Given the description of an element on the screen output the (x, y) to click on. 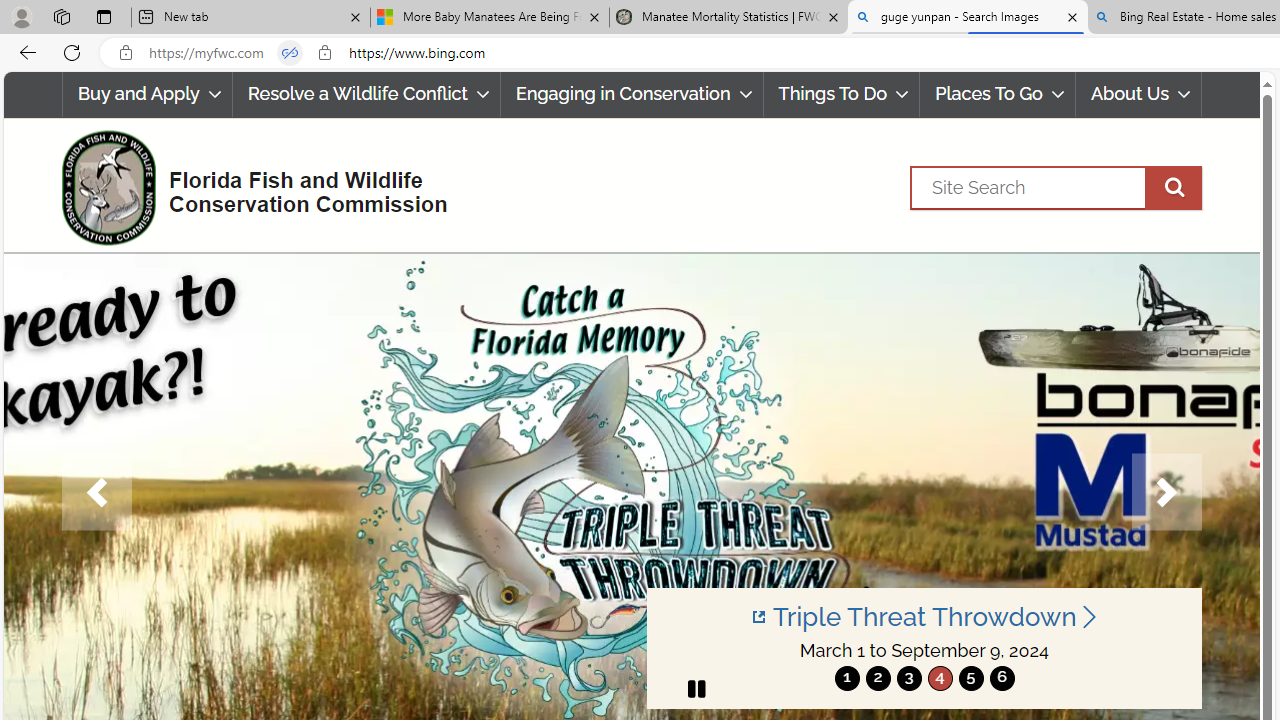
Triple Threat Throwdown  (924, 616)
About Us (1138, 94)
Resolve a Wildlife Conflict (365, 94)
Tabs in split screen (289, 53)
move to slide 6 (1002, 678)
FWC Logo (108, 187)
6 (1002, 678)
execute site search (1173, 187)
move to slide 4 (939, 678)
3 (908, 678)
Engaging in Conservation (631, 94)
